Given the description of an element on the screen output the (x, y) to click on. 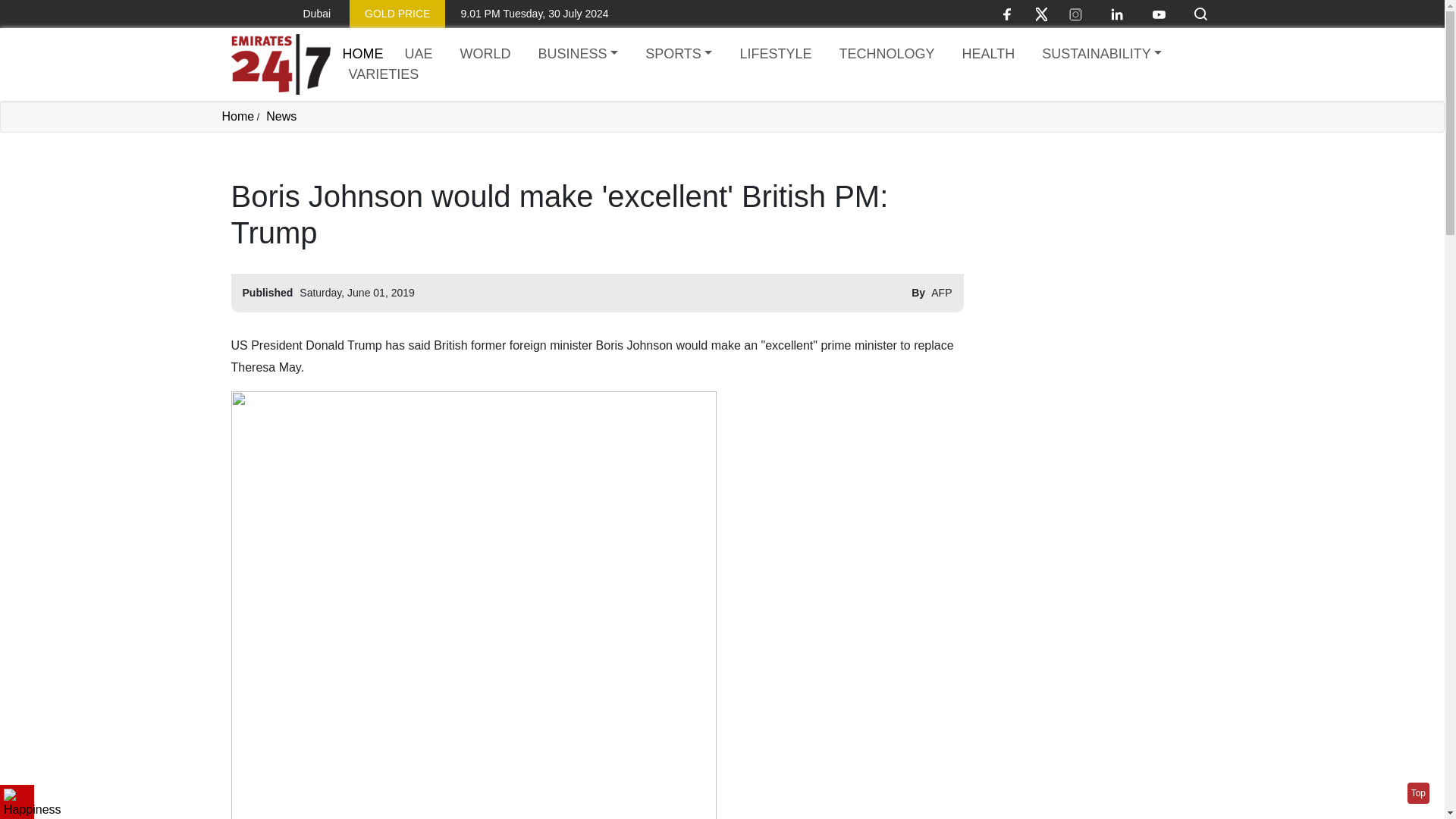
SUSTAINABILITY (1101, 54)
Go to top (1418, 792)
BUSINESS (578, 54)
Home (363, 53)
TECHNOLOGY (886, 54)
VARIETIES (383, 74)
Dubai (305, 13)
WORLD (485, 54)
HEALTH (987, 54)
News (281, 115)
HOME (363, 53)
LIFESTYLE (774, 54)
SPORTS (678, 54)
Home (280, 64)
Home (237, 115)
